Given the description of an element on the screen output the (x, y) to click on. 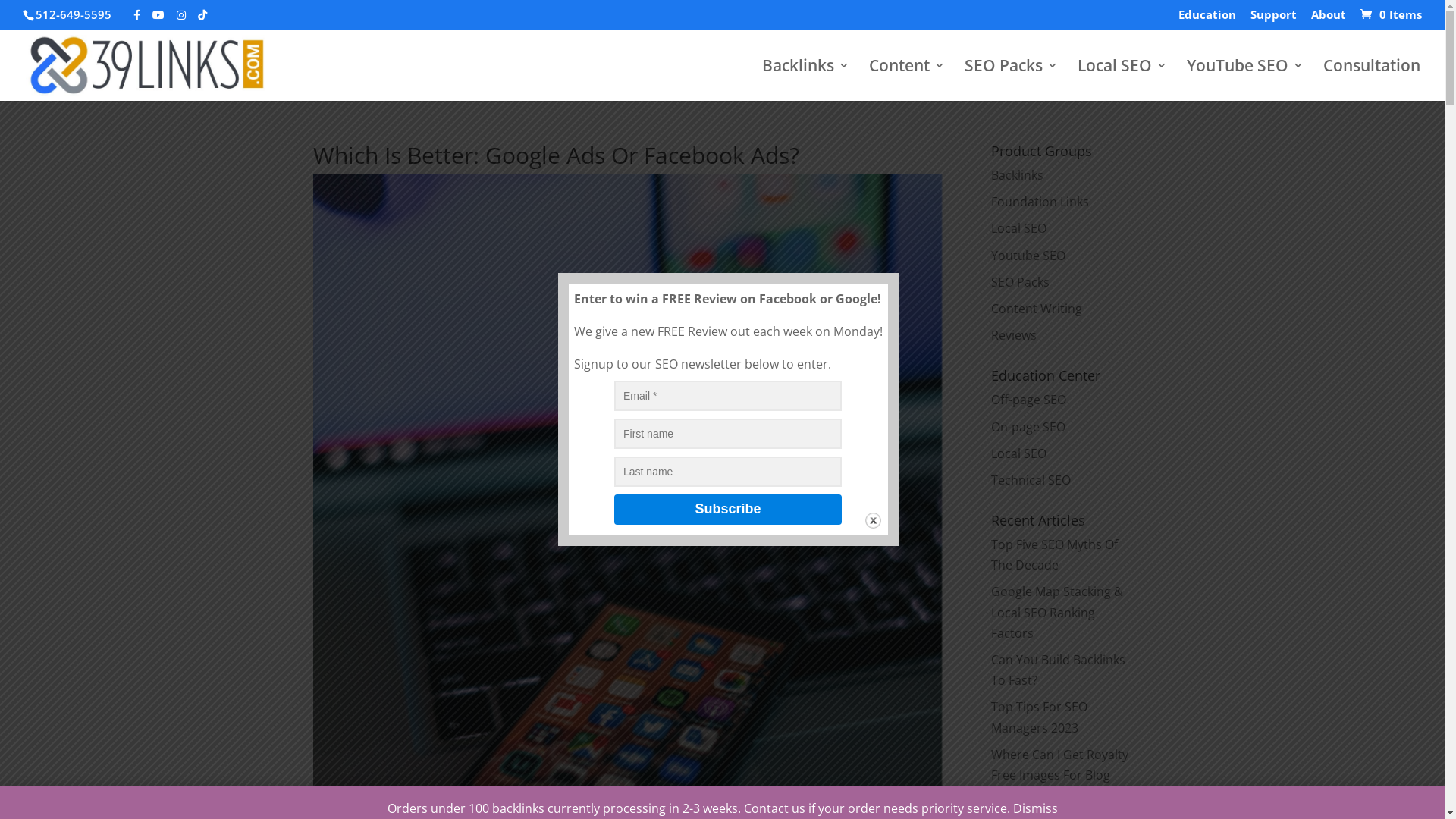
Subscribe Element type: text (727, 509)
Consultation Element type: text (1371, 79)
Youtube SEO Element type: text (1027, 255)
TikTok Element type: hover (202, 14)
Content Writing Element type: text (1035, 308)
Backlinks Element type: text (805, 79)
Top Five SEO Myths Of The Decade Element type: text (1053, 554)
Local SEO Element type: text (1017, 453)
Off-page SEO Element type: text (1027, 399)
About Element type: text (1328, 18)
On-page SEO Element type: text (1027, 426)
Close Element type: hover (872, 520)
SEO Packs Element type: text (1010, 79)
Technical SEO Element type: text (1030, 479)
YouTube SEO Element type: text (1244, 79)
Local SEO Element type: text (1122, 79)
Support Element type: text (1273, 18)
Dismiss Element type: text (1035, 808)
Instagram Element type: hover (180, 14)
Facebook Element type: hover (136, 14)
Local SEO Element type: text (1017, 227)
Education Element type: text (1207, 18)
Can You Build Backlinks To Fast? Element type: text (1057, 669)
Backlinks Element type: text (1016, 174)
Foundation Links Element type: text (1039, 201)
Where Can I Get Royalty Free Images For Blog Posts? Element type: text (1058, 774)
YouTube Element type: hover (158, 14)
0 Items Element type: text (1389, 13)
Google Map Stacking & Local SEO Ranking Factors Element type: text (1056, 611)
Reviews Element type: text (1012, 334)
Top Tips For SEO Managers 2023 Element type: text (1038, 716)
SEO Packs Element type: text (1019, 281)
Content Element type: text (906, 79)
